Given the description of an element on the screen output the (x, y) to click on. 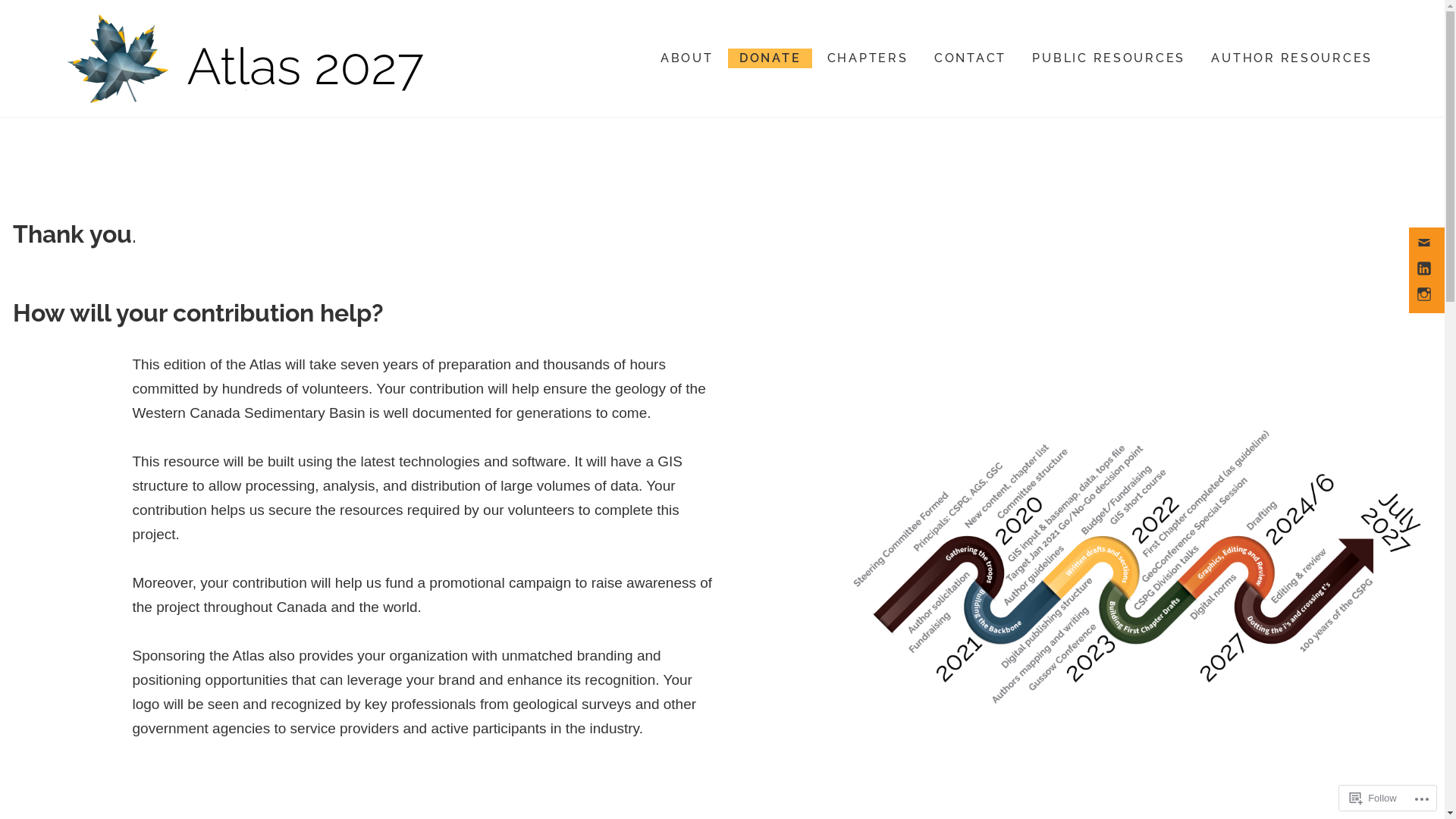
ABOUT Element type: text (686, 58)
DONATE Element type: text (770, 58)
Atlas 2027 Element type: text (110, 132)
AUTHOR RESOURCES Element type: text (1291, 58)
PUBLIC RESOURCES Element type: text (1108, 58)
CHAPTERS Element type: text (867, 58)
Follow Element type: text (1372, 797)
CONTACT Element type: text (969, 58)
